Given the description of an element on the screen output the (x, y) to click on. 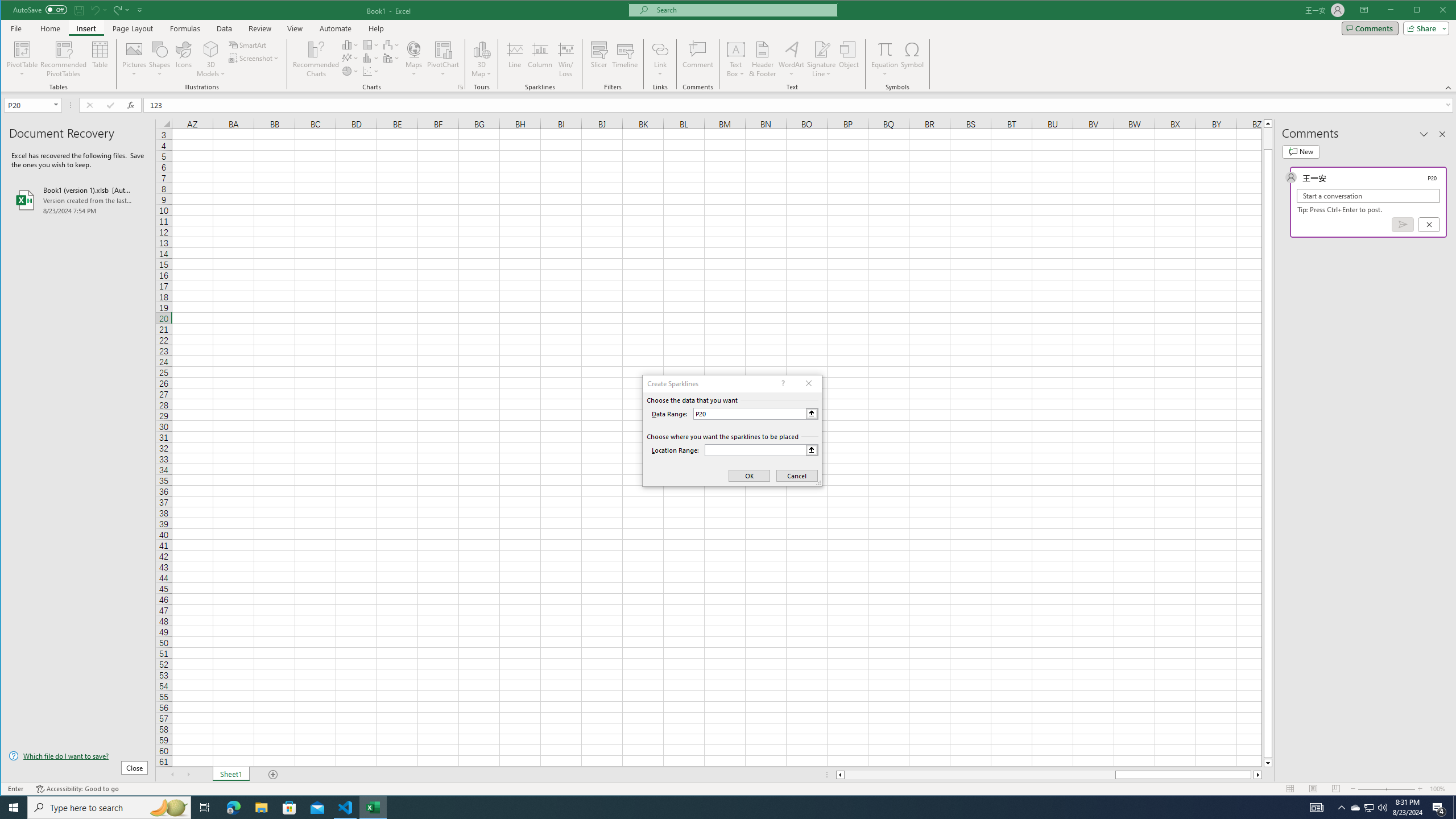
Insert Line or Area Chart (350, 57)
